Given the description of an element on the screen output the (x, y) to click on. 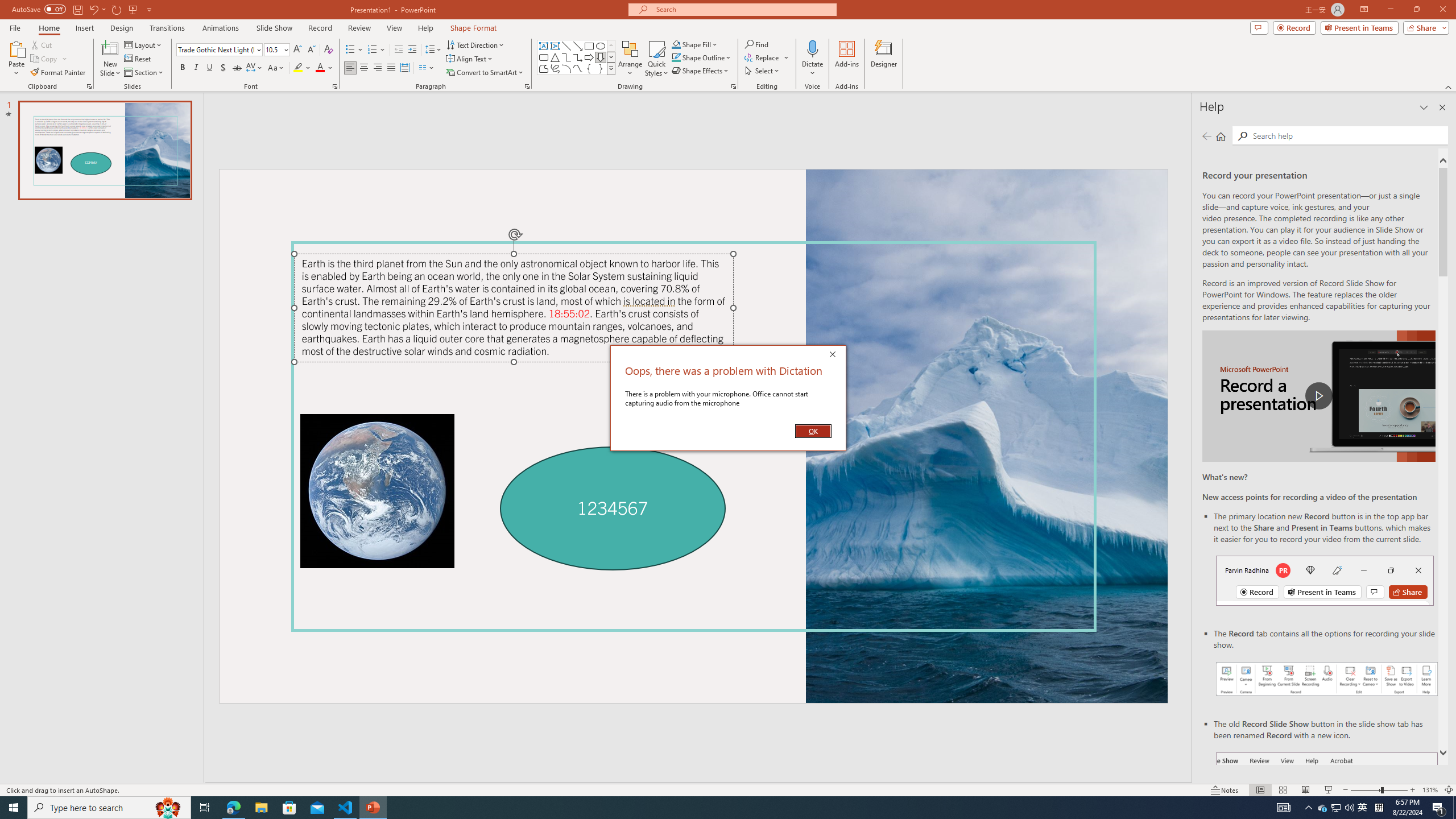
Bold (182, 67)
Review (359, 28)
Paste (16, 48)
Shapes (611, 68)
Find... (756, 44)
AutoSave (38, 9)
Microsoft Store (289, 807)
Section (144, 72)
Task View (204, 807)
Action Center, 1 new notification (1439, 807)
play Record a Presentation (1318, 395)
Arrow: Down (600, 57)
